Given the description of an element on the screen output the (x, y) to click on. 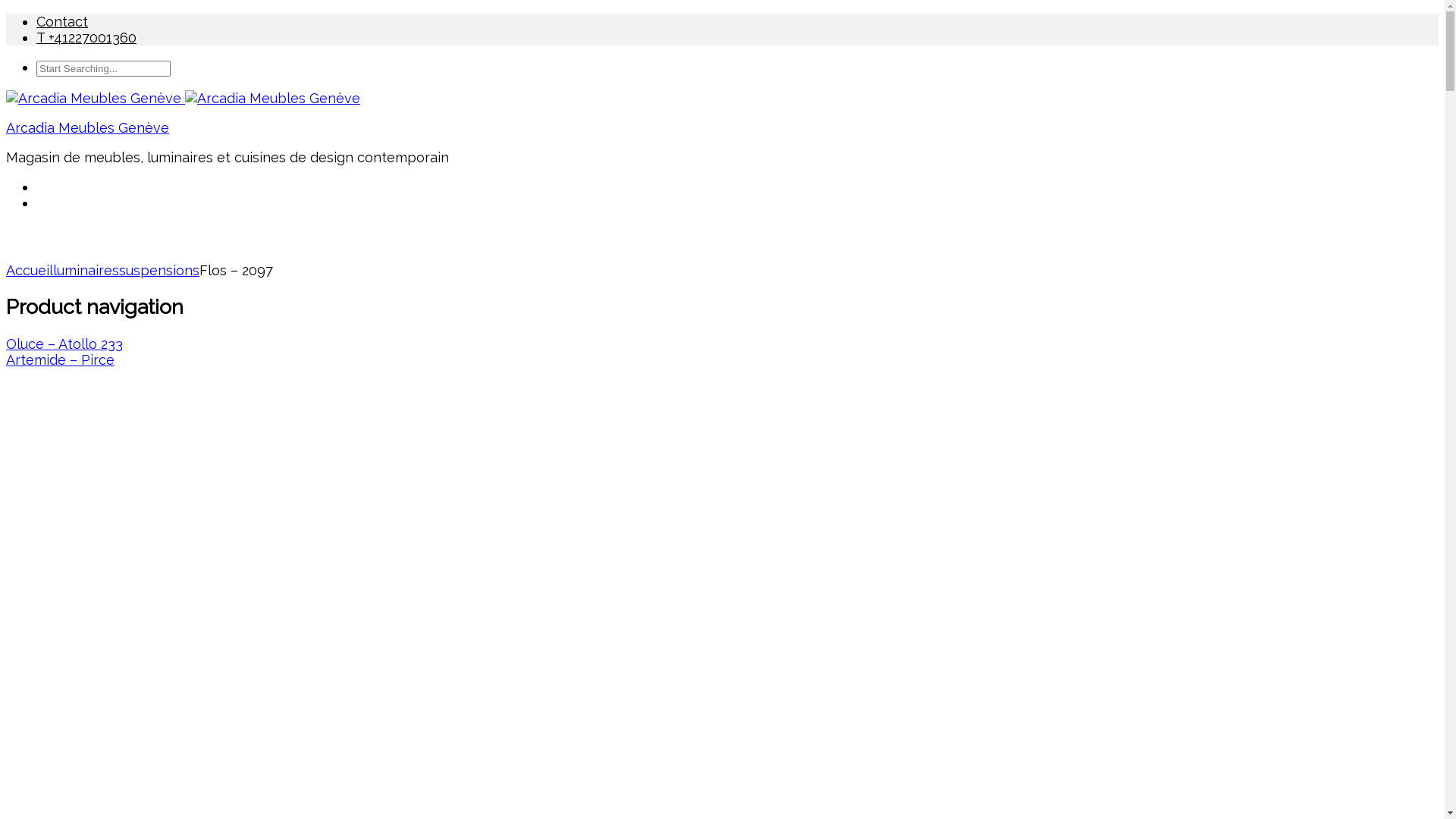
suspensions Element type: text (159, 270)
Accueil Element type: text (29, 270)
T +41227001360 Element type: text (86, 37)
Contact Element type: text (61, 21)
luminaires Element type: text (86, 270)
